Given the description of an element on the screen output the (x, y) to click on. 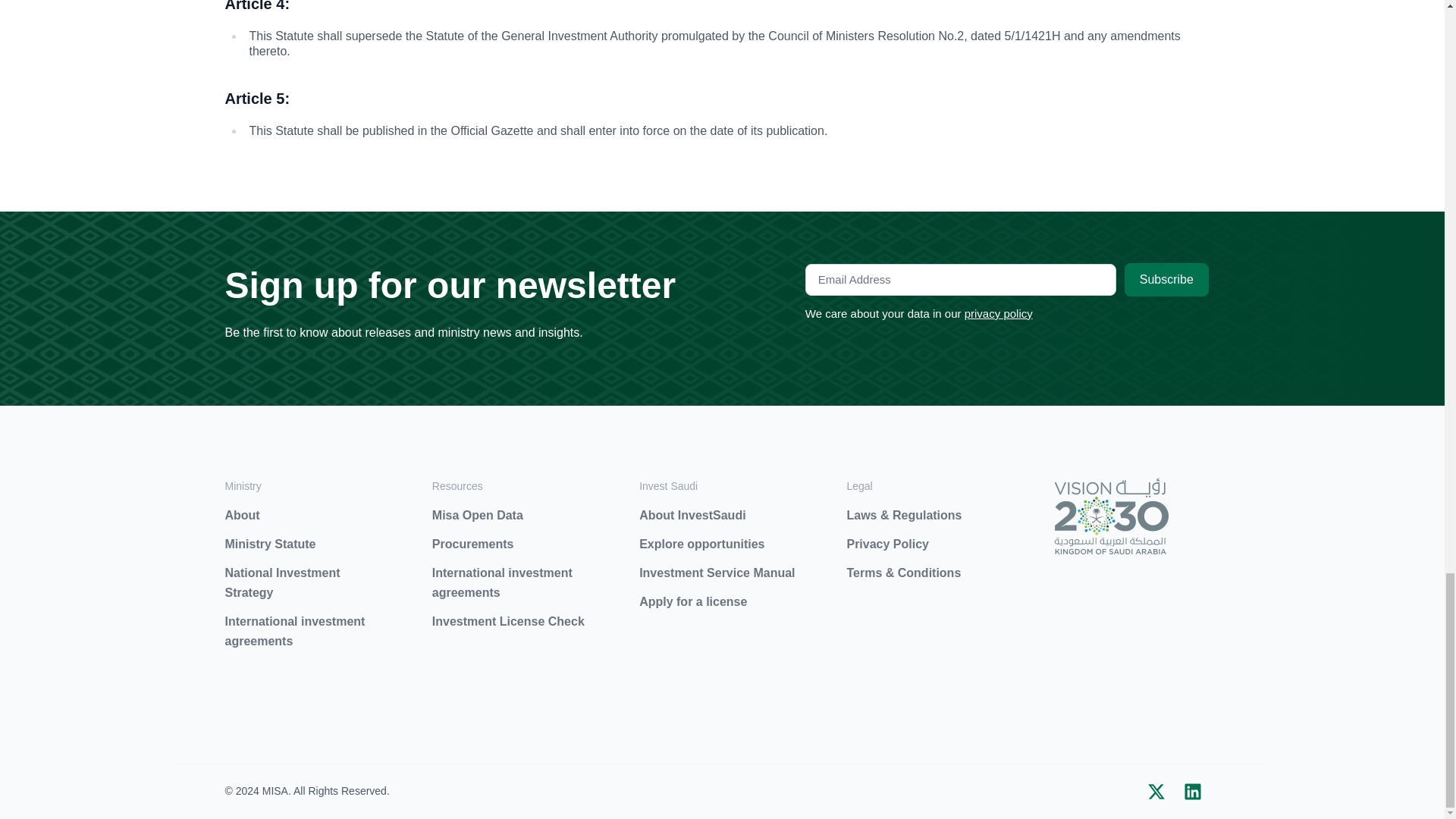
Subscribe (1166, 280)
